Given the description of an element on the screen output the (x, y) to click on. 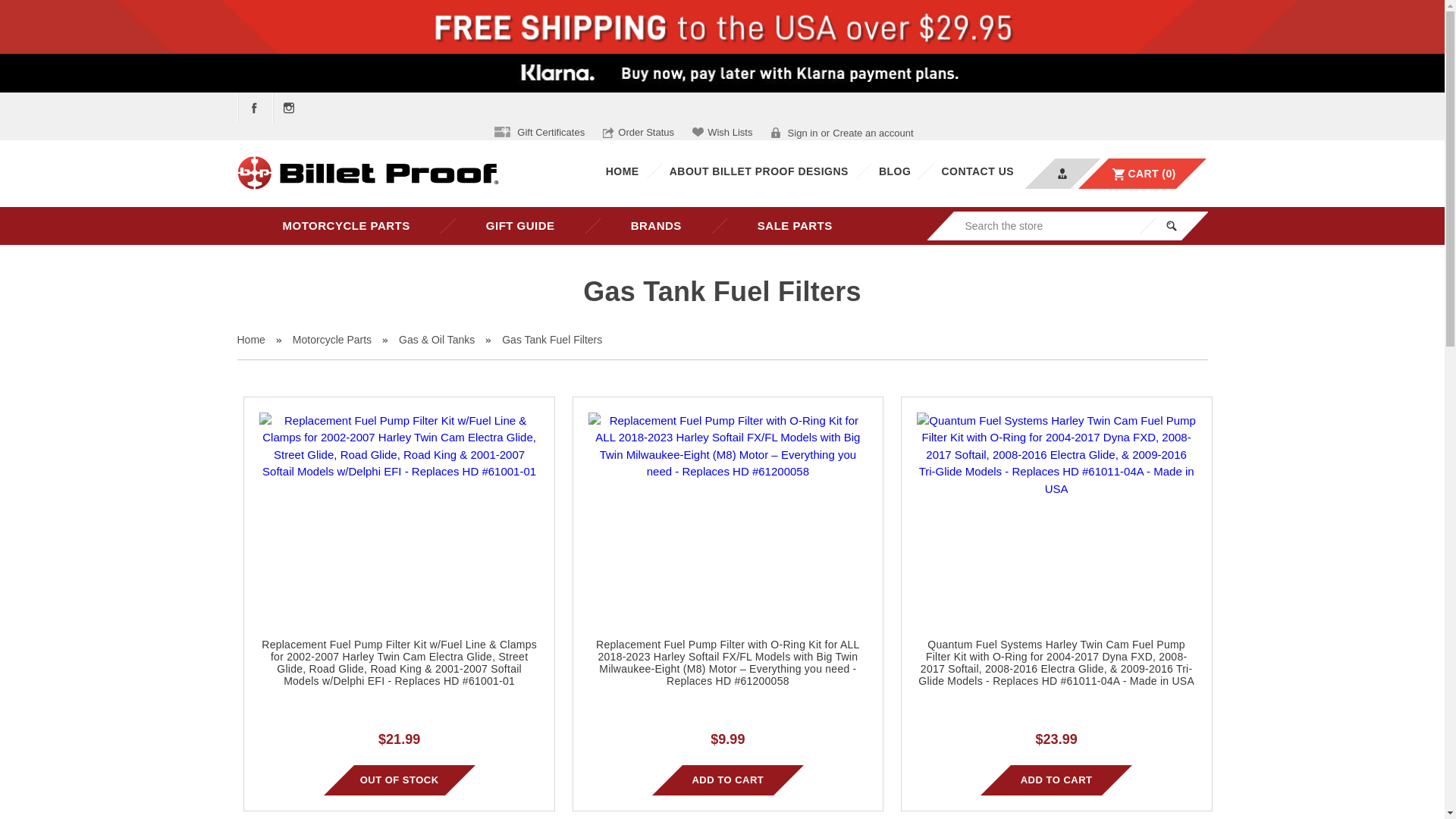
 Sign in (794, 132)
 Wish Lists (722, 132)
 Gift Certificates (540, 132)
HOME (622, 171)
BLOG (894, 171)
 Order Status (638, 132)
CONTACT US (977, 171)
Billet Proof Designs (367, 173)
ABOUT BILLET PROOF DESIGNS (759, 171)
Create an account (872, 132)
